Given the description of an element on the screen output the (x, y) to click on. 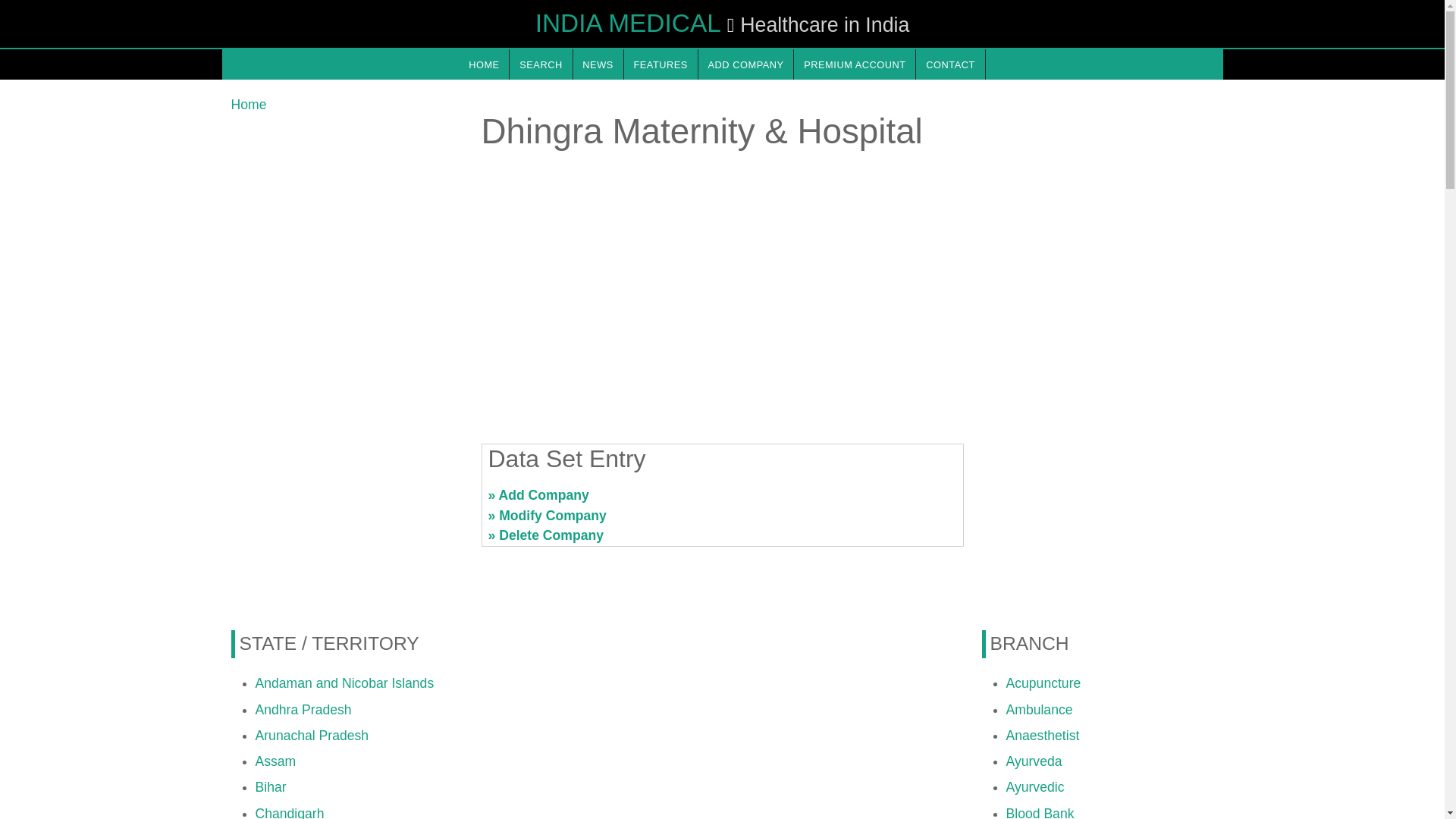
Arunachal Pradesh (311, 735)
Premium account (854, 64)
HOME (483, 64)
FEATURES (660, 64)
PREMIUM ACCOUNT (854, 64)
Chandigarh (288, 812)
Andhra Pradesh (302, 709)
Bihar (269, 786)
Add a new company (745, 64)
